Given the description of an element on the screen output the (x, y) to click on. 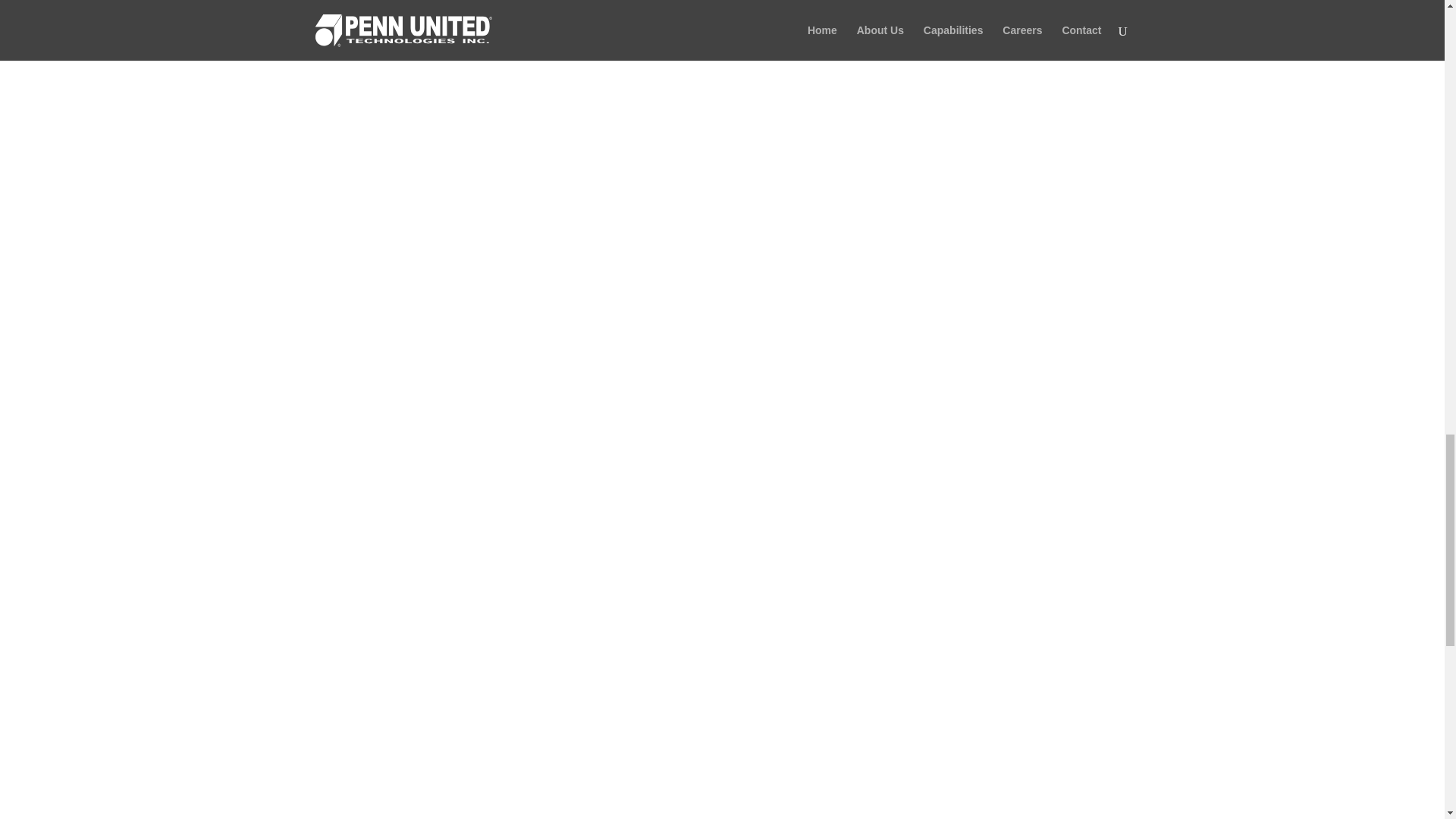
wpforms-submit (557, 631)
